Given the description of an element on the screen output the (x, y) to click on. 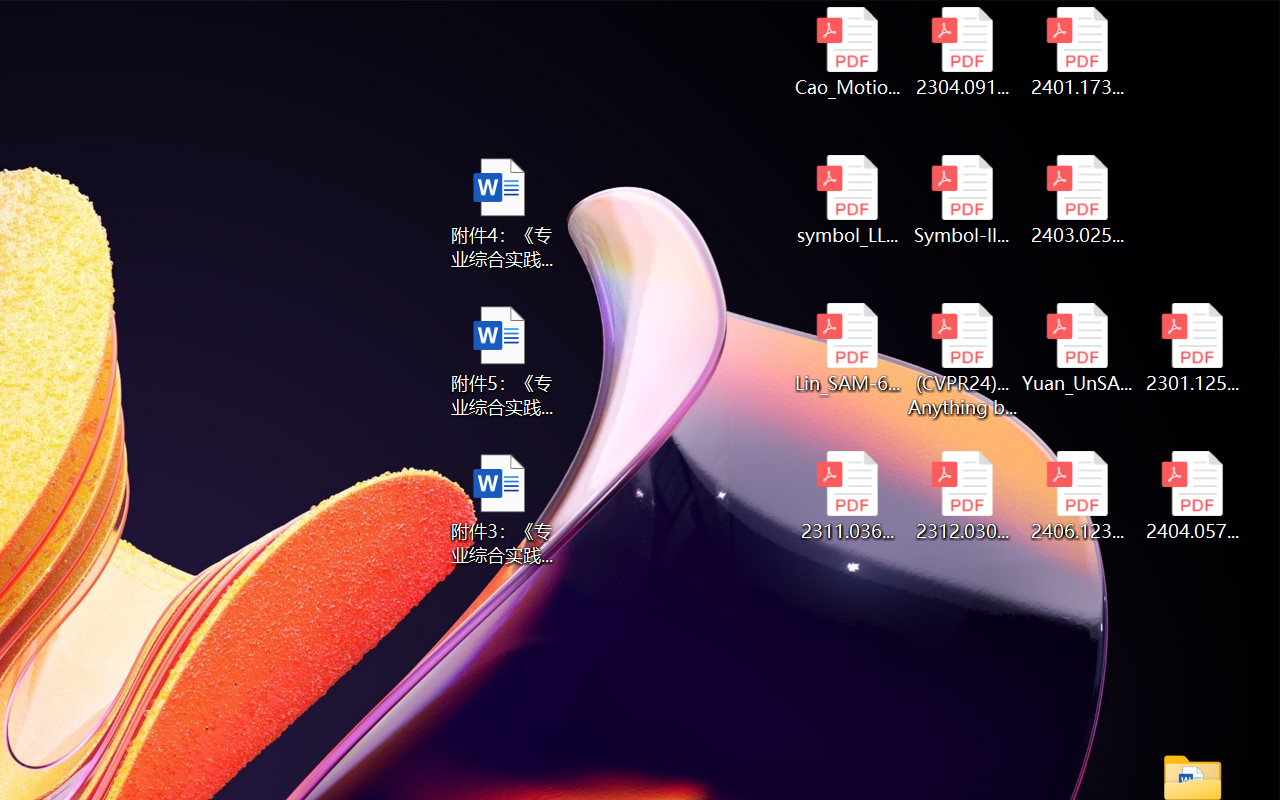
2312.03032v2.pdf (962, 496)
2301.12597v3.pdf (1192, 348)
